Given the description of an element on the screen output the (x, y) to click on. 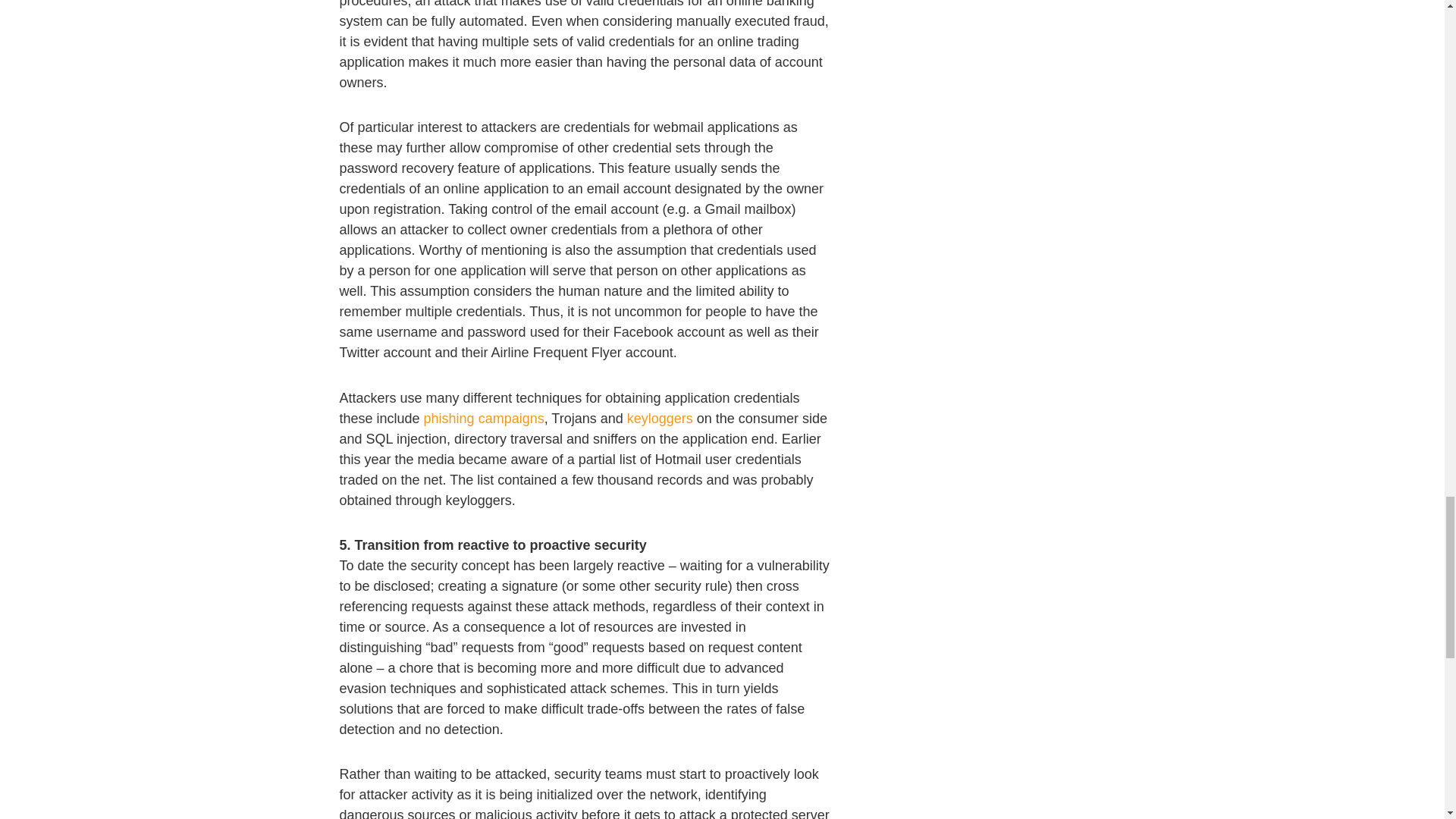
phishing campaigns (483, 418)
keyloggers (660, 418)
